Given the description of an element on the screen output the (x, y) to click on. 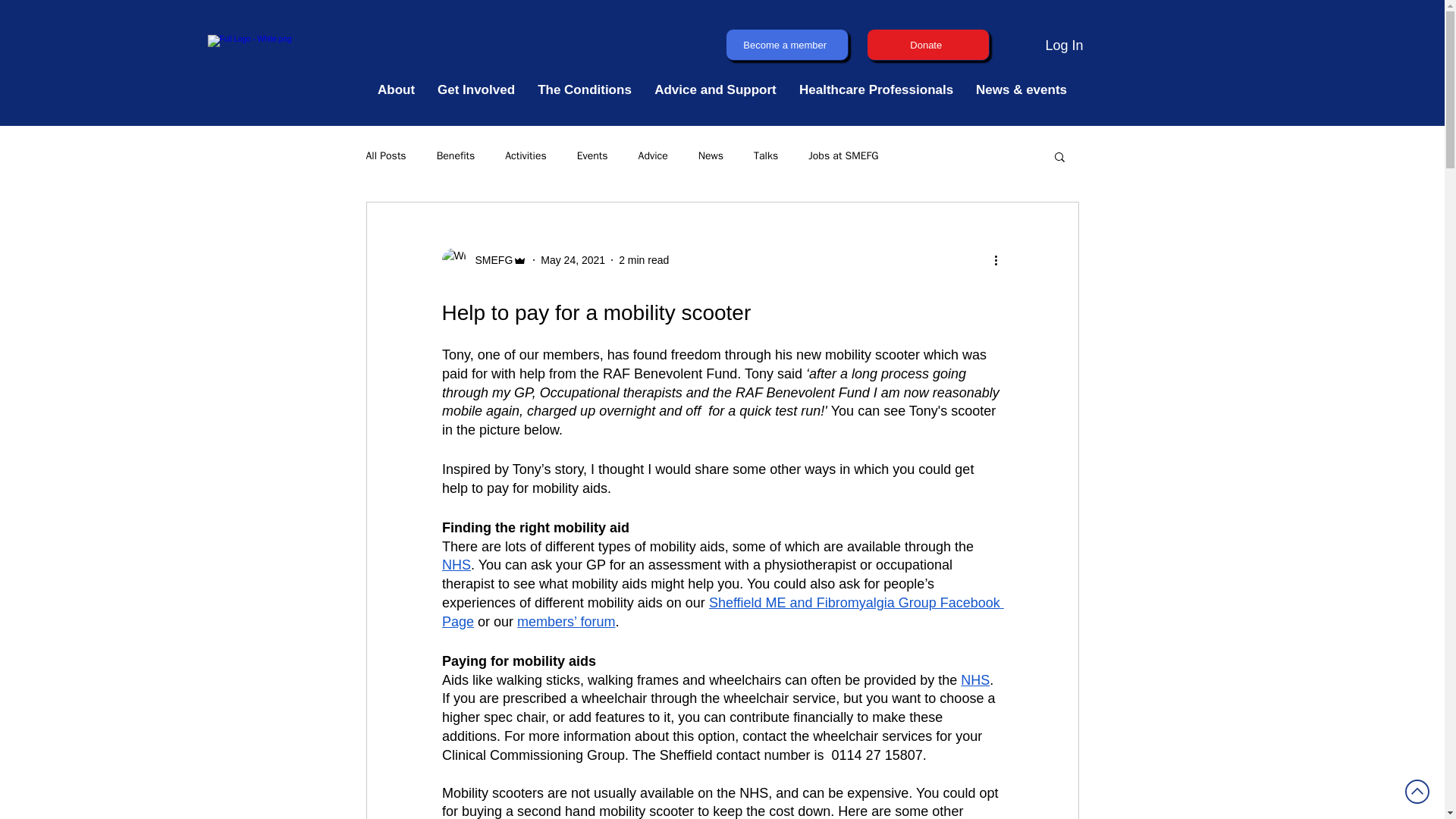
Donate (927, 44)
Events (592, 155)
2 min read (643, 259)
All Posts (385, 155)
Log In (1063, 45)
Activities (526, 155)
Get Involved (475, 89)
News (710, 155)
Become a member (786, 44)
May 24, 2021 (572, 259)
